Given the description of an element on the screen output the (x, y) to click on. 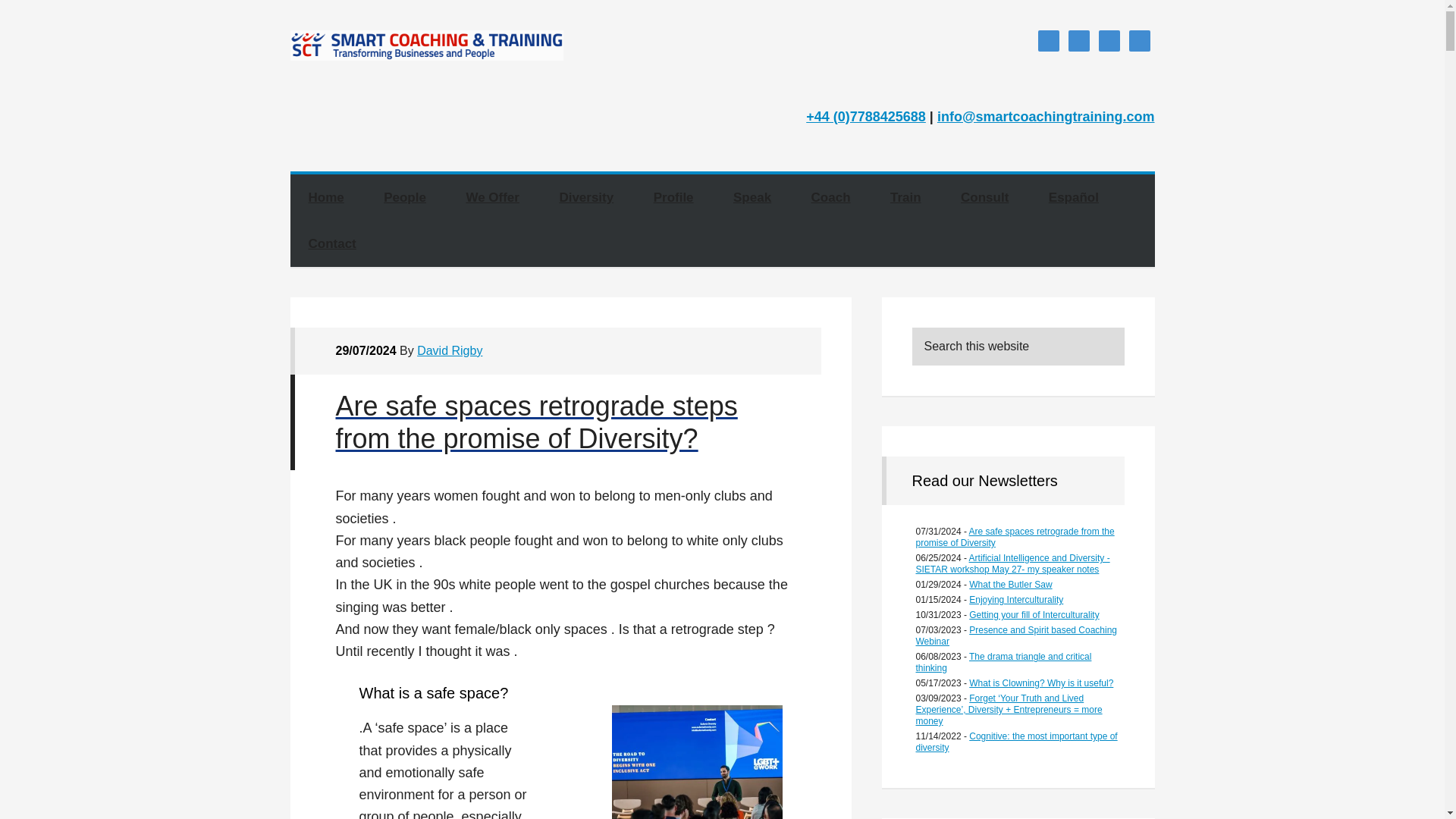
Coach (831, 197)
We Offer (491, 197)
Diversity (585, 197)
Cognitive: the most important type of diversity (1016, 741)
People (404, 197)
Speak (751, 197)
Presence and Spirit based  Coaching Webinar (1016, 635)
